Given the description of an element on the screen output the (x, y) to click on. 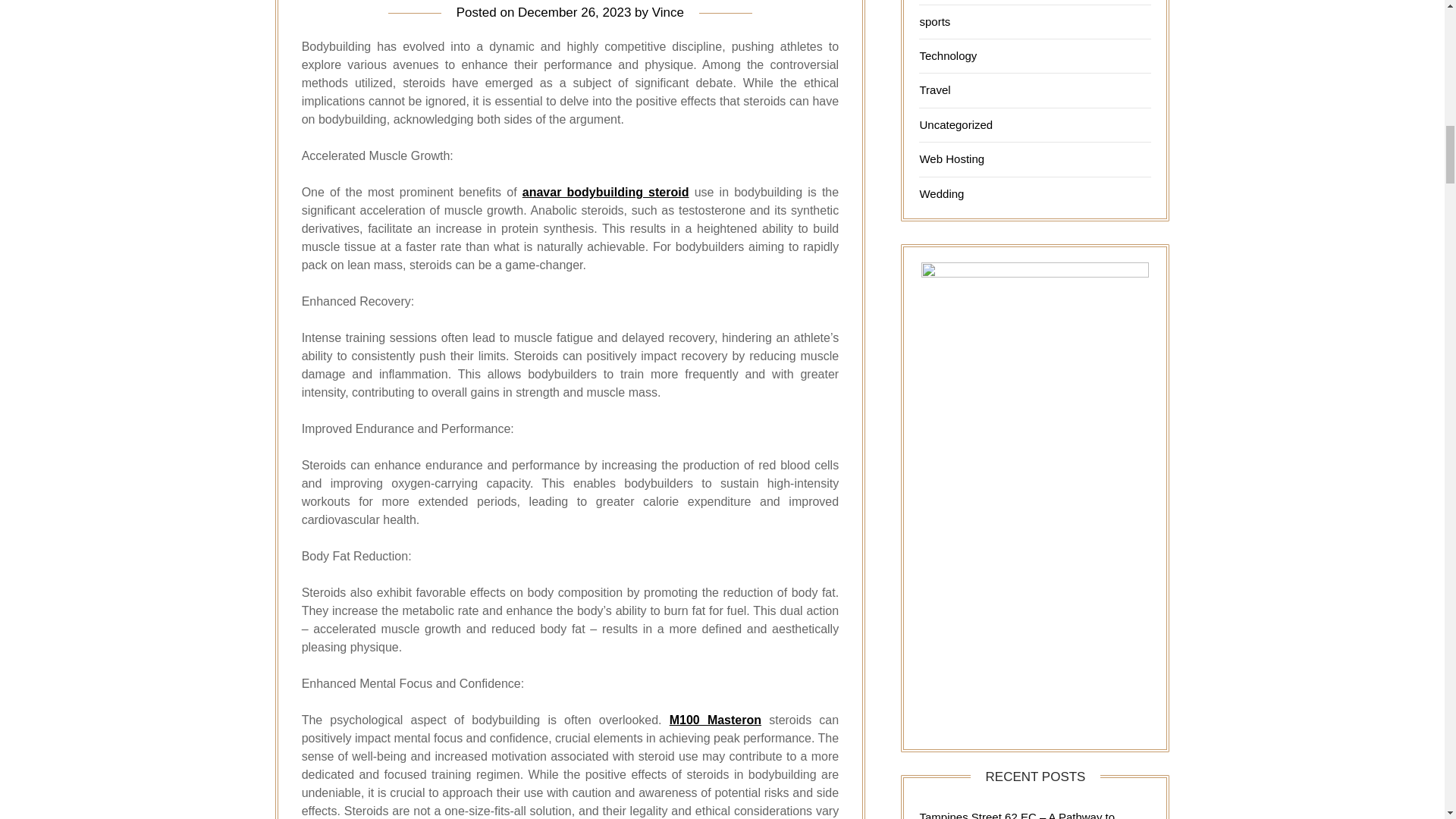
anavar bodybuilding steroid (605, 192)
December 26, 2023 (574, 11)
M100 Masteron (715, 719)
Vince (668, 11)
